Given the description of an element on the screen output the (x, y) to click on. 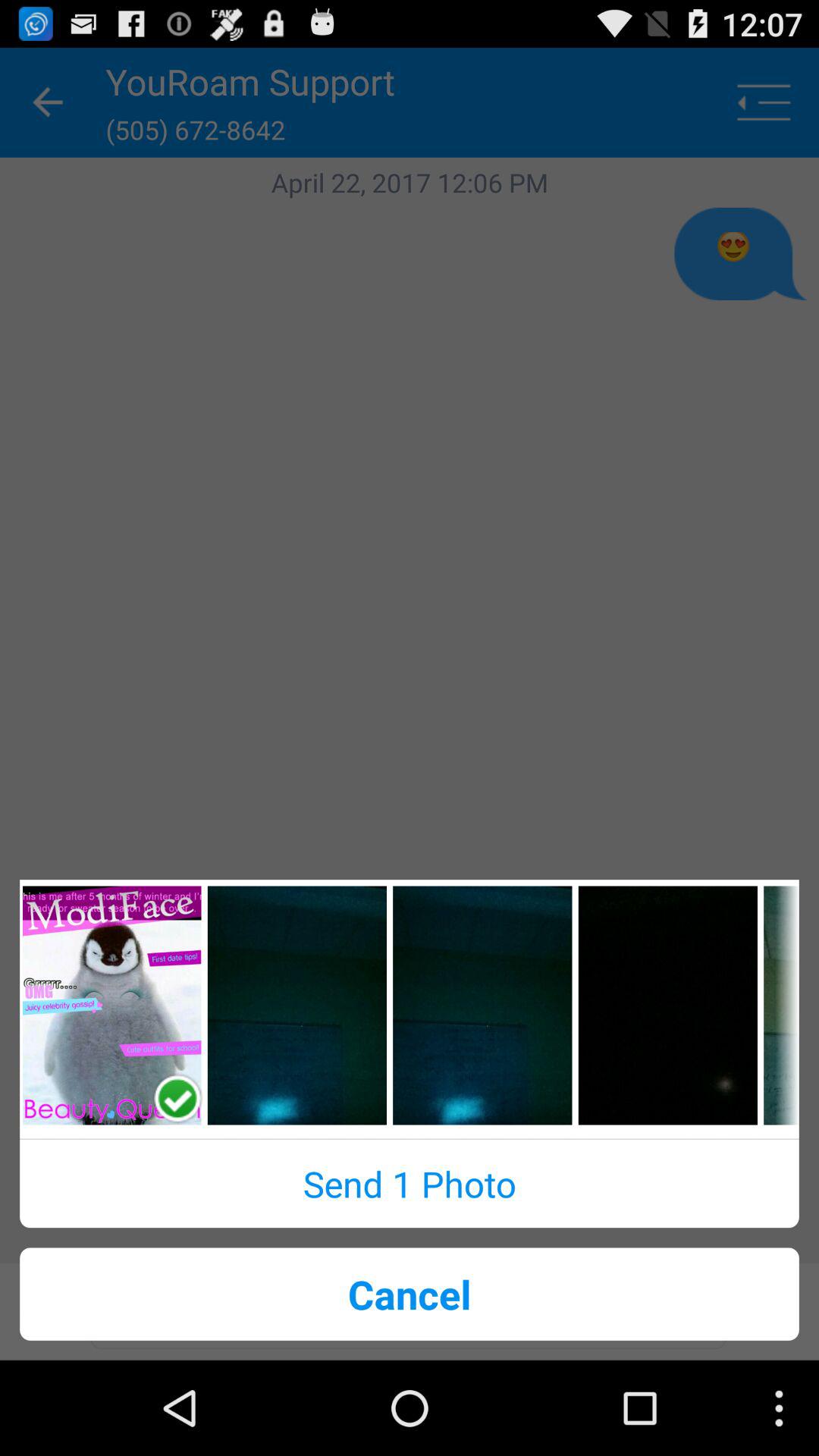
photo option (482, 1005)
